Given the description of an element on the screen output the (x, y) to click on. 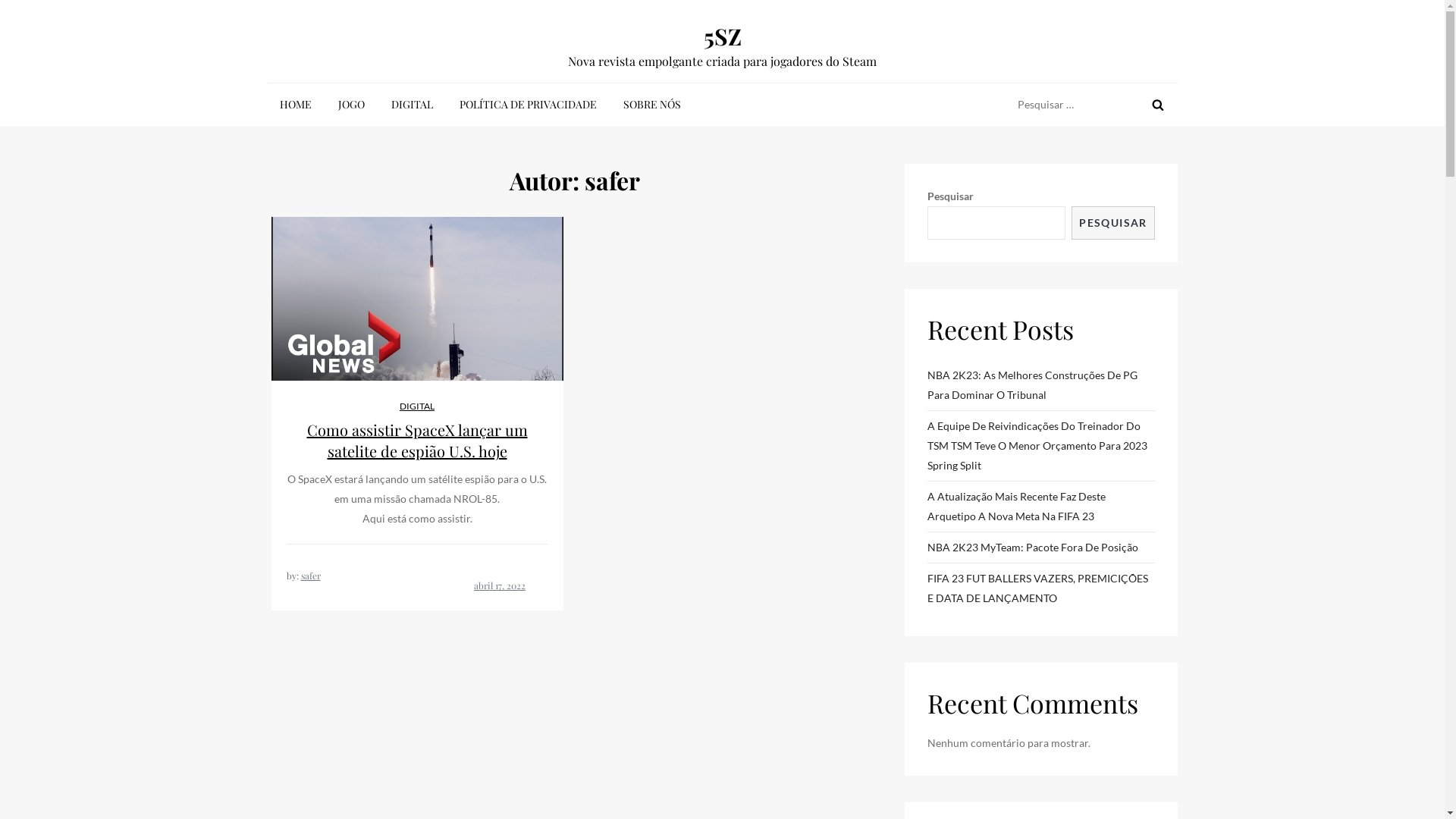
PESQUISAR Element type: text (1112, 222)
JOGO Element type: text (351, 104)
abril 17, 2022 Element type: text (499, 585)
HOME Element type: text (294, 104)
5SZ Element type: text (722, 36)
DIGITAL Element type: text (416, 406)
safer Element type: text (310, 575)
Search Element type: text (1156, 104)
DIGITAL Element type: text (412, 104)
